Given the description of an element on the screen output the (x, y) to click on. 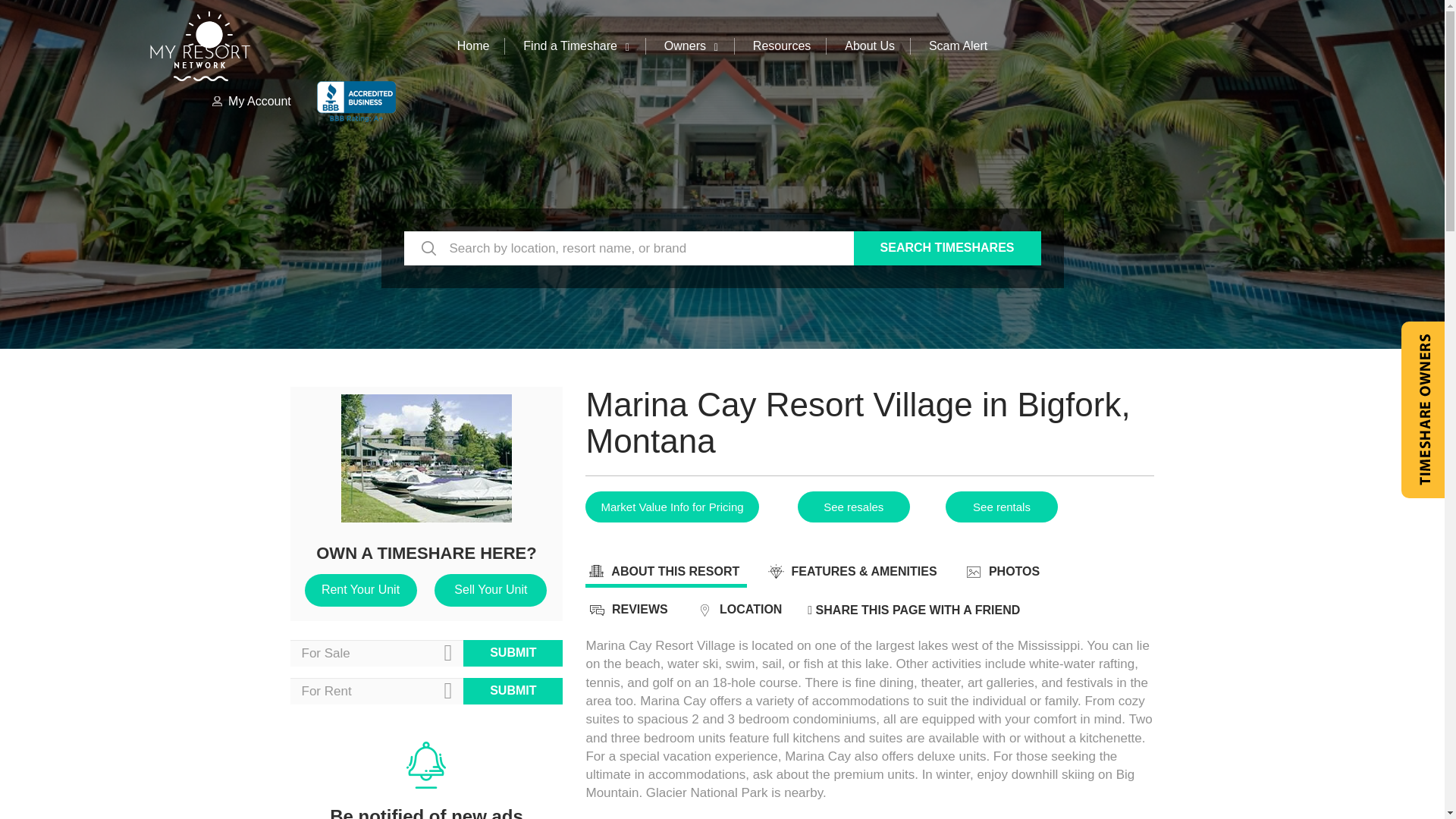
See resales (853, 506)
Rent Your Unit (360, 590)
Scam Alert (957, 45)
Home (473, 45)
Find a Timeshare (576, 45)
SEARCH TIMESHARES (947, 247)
My Account (250, 101)
SUBMIT (512, 652)
Owners (691, 45)
About Us (869, 45)
Sell Your Unit (490, 590)
See rentals (1001, 506)
Resources (781, 45)
SEARCH TIMESHARES (947, 247)
SUBMIT (512, 691)
